Given the description of an element on the screen output the (x, y) to click on. 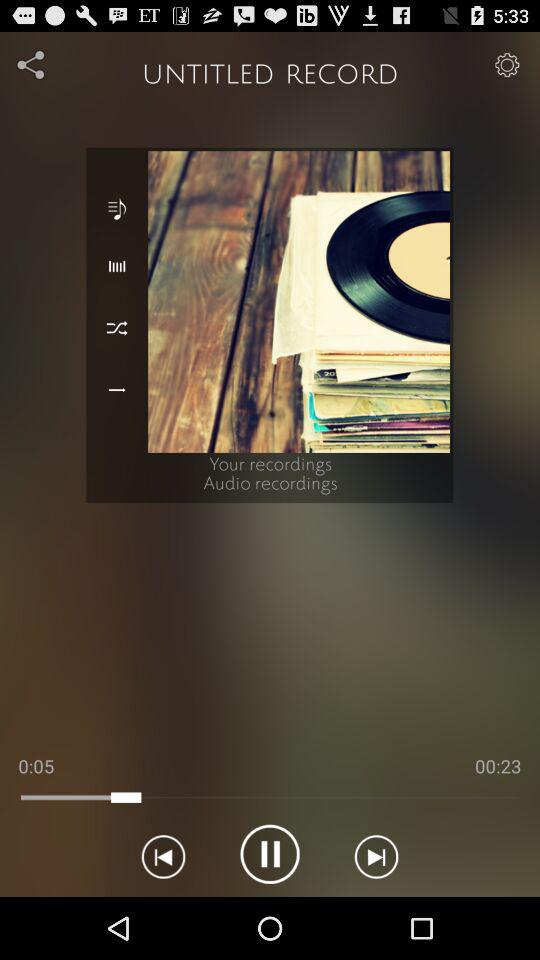
click next icon right to pause option (376, 854)
click settings icon in top right corner (507, 64)
click on text below image (271, 478)
click on pause button (269, 854)
